Given the description of an element on the screen output the (x, y) to click on. 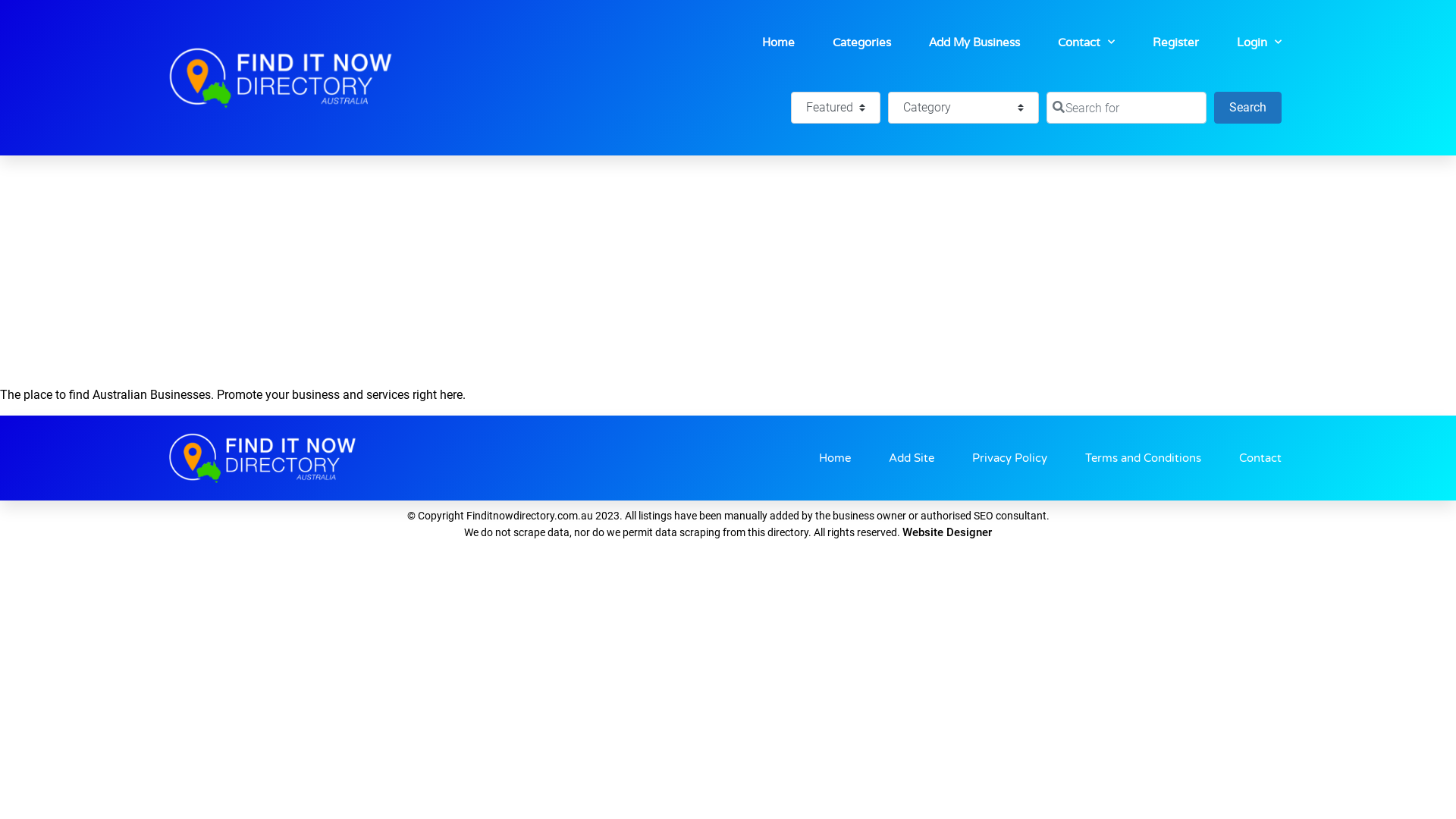
Add Site Element type: text (911, 457)
Add My Business Element type: text (973, 41)
Categories Element type: text (861, 41)
Register Element type: text (1175, 41)
Home Element type: text (834, 457)
Home Element type: text (778, 41)
Contact Element type: text (1260, 457)
Terms and Conditions Element type: text (1143, 457)
Advertisement Element type: hover (728, 269)
Privacy Policy Element type: text (1009, 457)
Login Element type: text (1258, 41)
Search
Search Element type: text (1247, 107)
Website Designer Element type: text (946, 532)
Contact Element type: text (1085, 41)
